Given the description of an element on the screen output the (x, y) to click on. 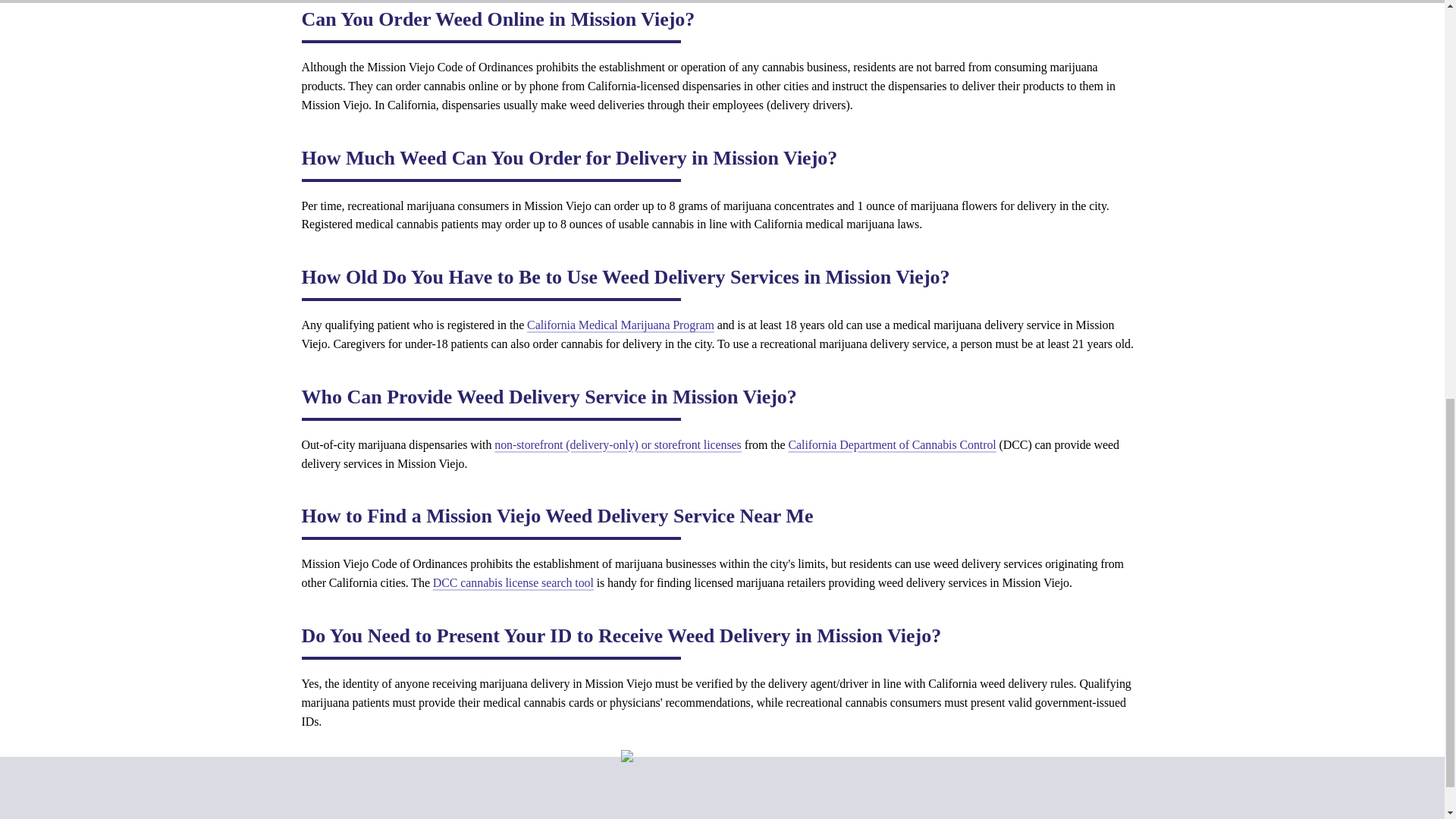
California Department of Cannabis Control (891, 444)
DCC cannabis license search tool (513, 582)
California Medical Marijuana Program (620, 324)
